Given the description of an element on the screen output the (x, y) to click on. 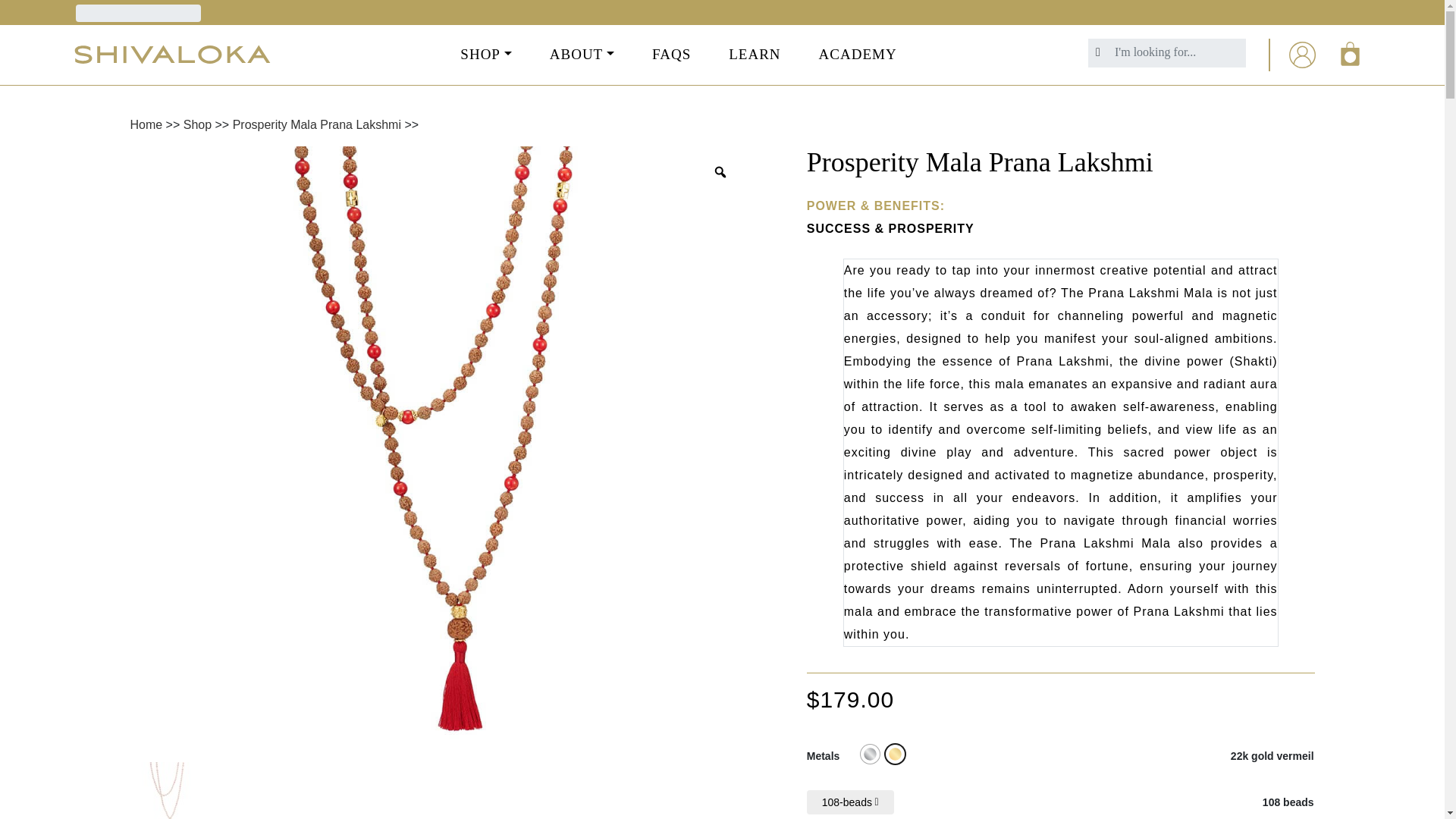
SHOP (485, 55)
logo - SHIVALOKA (172, 54)
Cart (1351, 53)
